Given the description of an element on the screen output the (x, y) to click on. 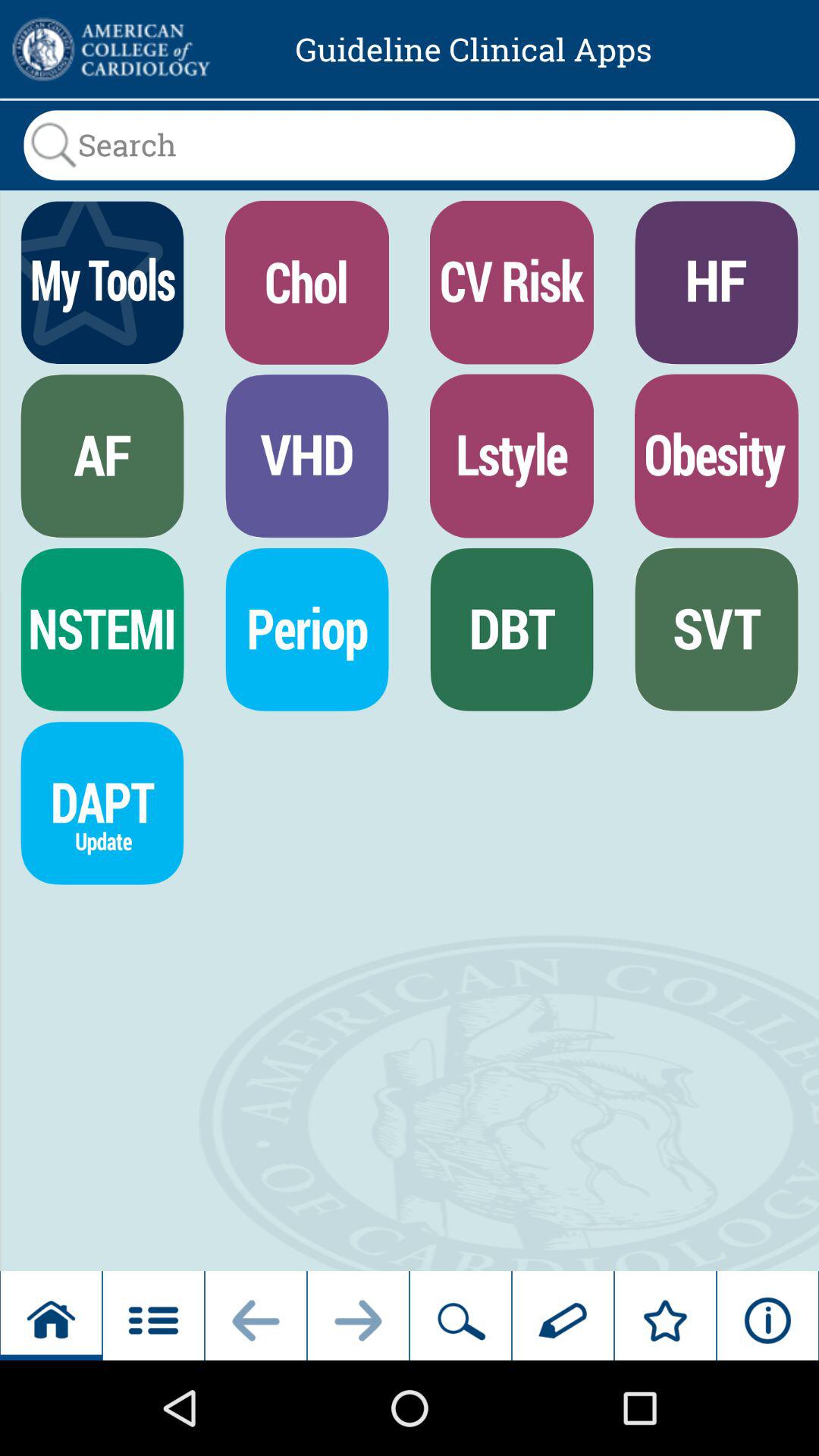
choose the item to the left of the guideline clinical apps icon (109, 49)
